Given the description of an element on the screen output the (x, y) to click on. 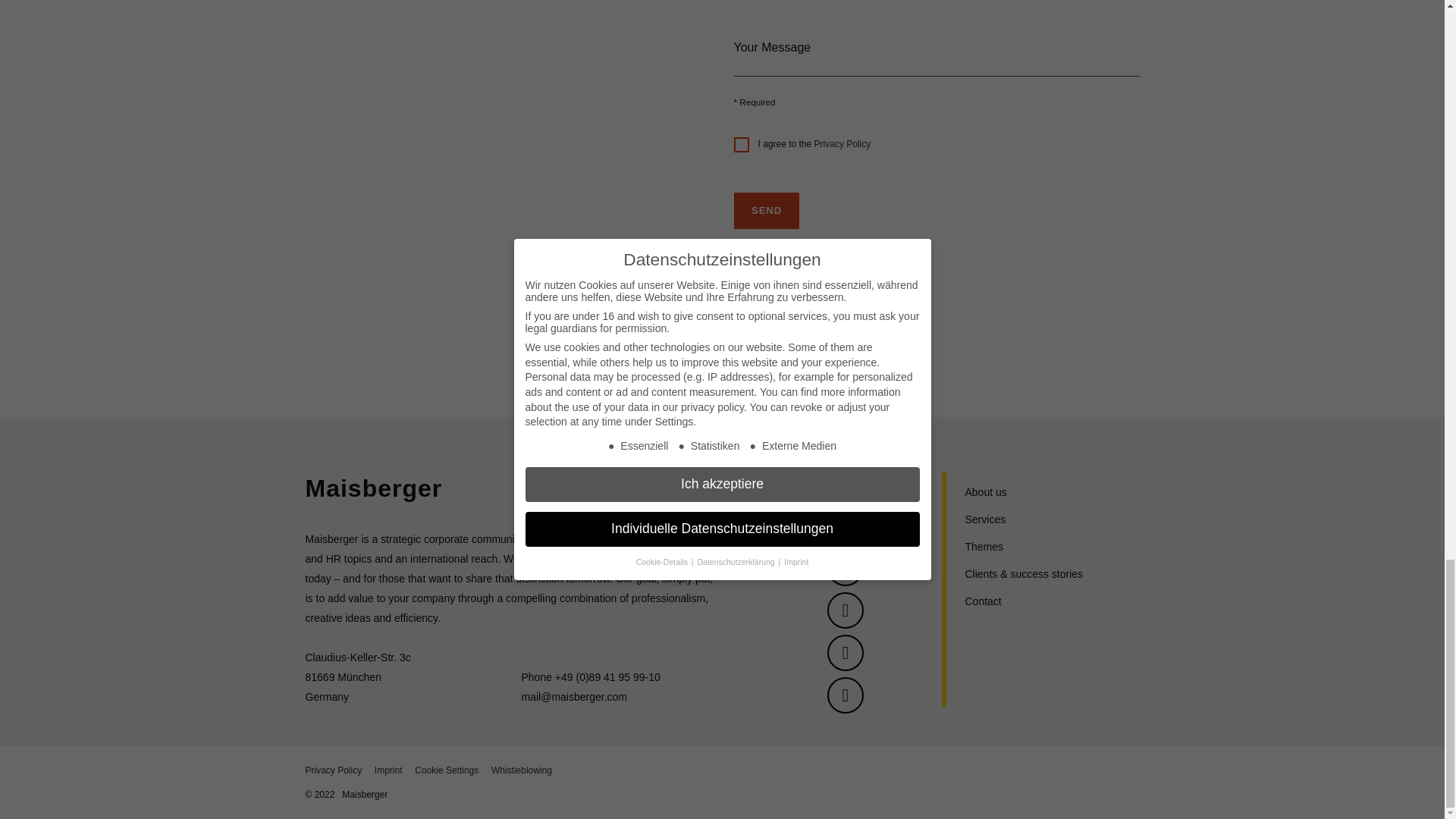
Send (766, 210)
Privacy Policy (841, 143)
Send (766, 210)
